Given the description of an element on the screen output the (x, y) to click on. 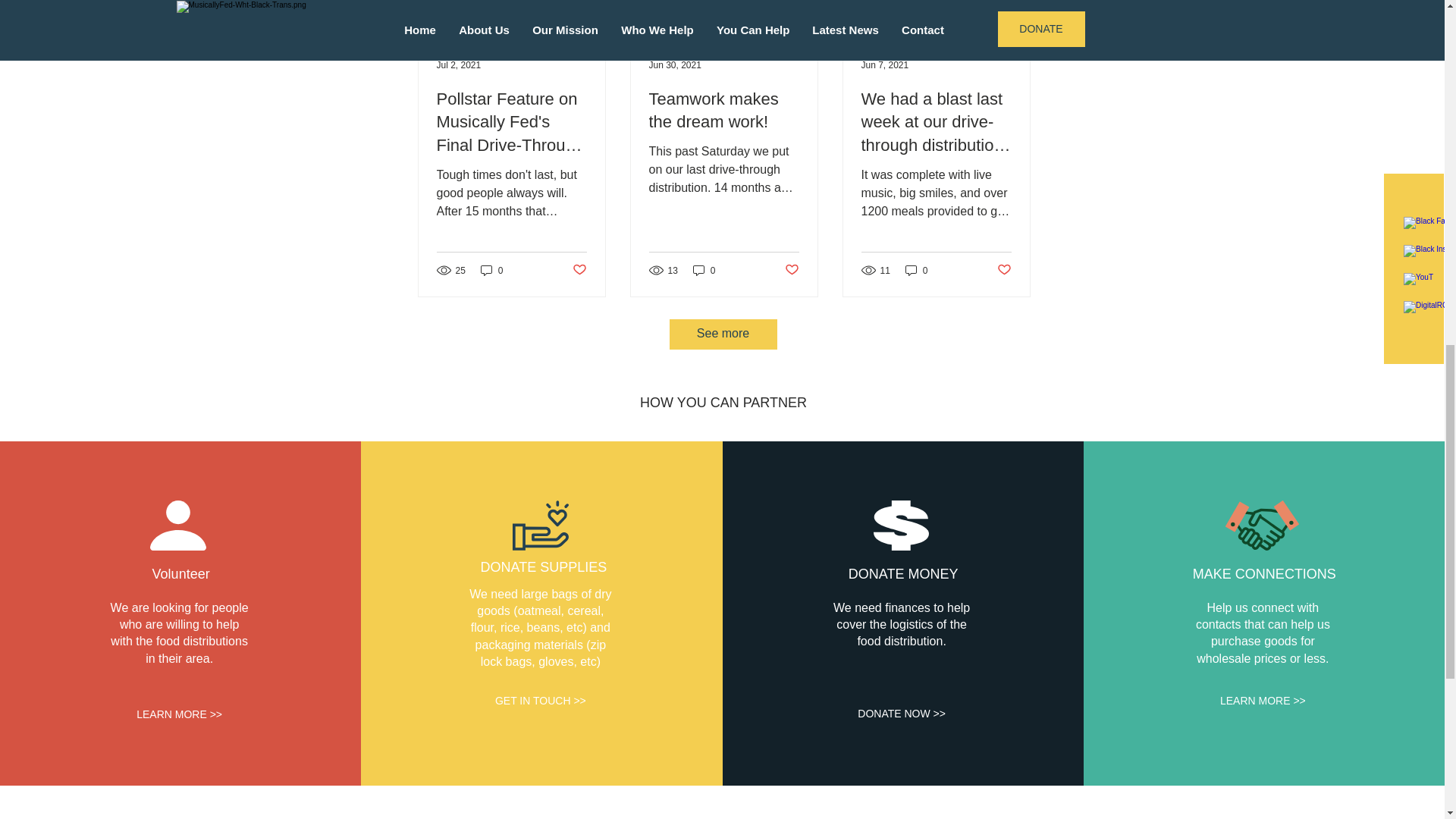
0 (704, 269)
0 (917, 269)
See more (722, 333)
Jul 2, 2021 (458, 63)
Post not marked as liked (1002, 270)
Jun 30, 2021 (675, 63)
Post not marked as liked (579, 270)
0 (492, 269)
Post not marked as liked (790, 270)
Jun 7, 2021 (884, 63)
Teamwork makes the dream work! (724, 111)
